Given the description of an element on the screen output the (x, y) to click on. 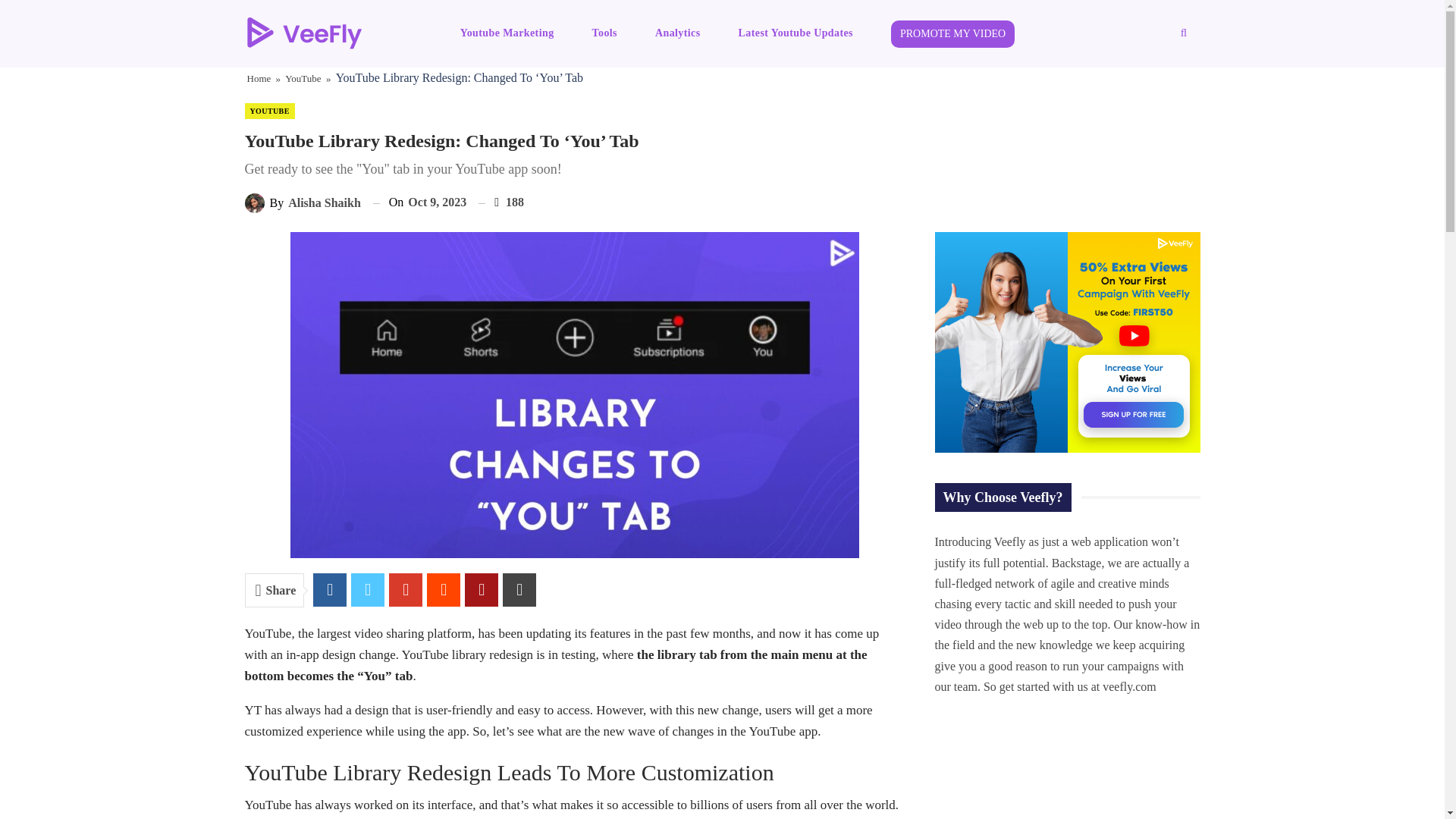
Browse Author Articles (301, 202)
Latest Youtube Updates (796, 33)
Home (258, 78)
Tools (604, 33)
YOUTUBE (269, 110)
PROMOTE MY VIDEO (952, 33)
YouTube (302, 78)
Analytics (677, 33)
Youtube Marketing (506, 33)
By Alisha Shaikh (301, 202)
PROMOTE MY VIDEO (952, 33)
